Given the description of an element on the screen output the (x, y) to click on. 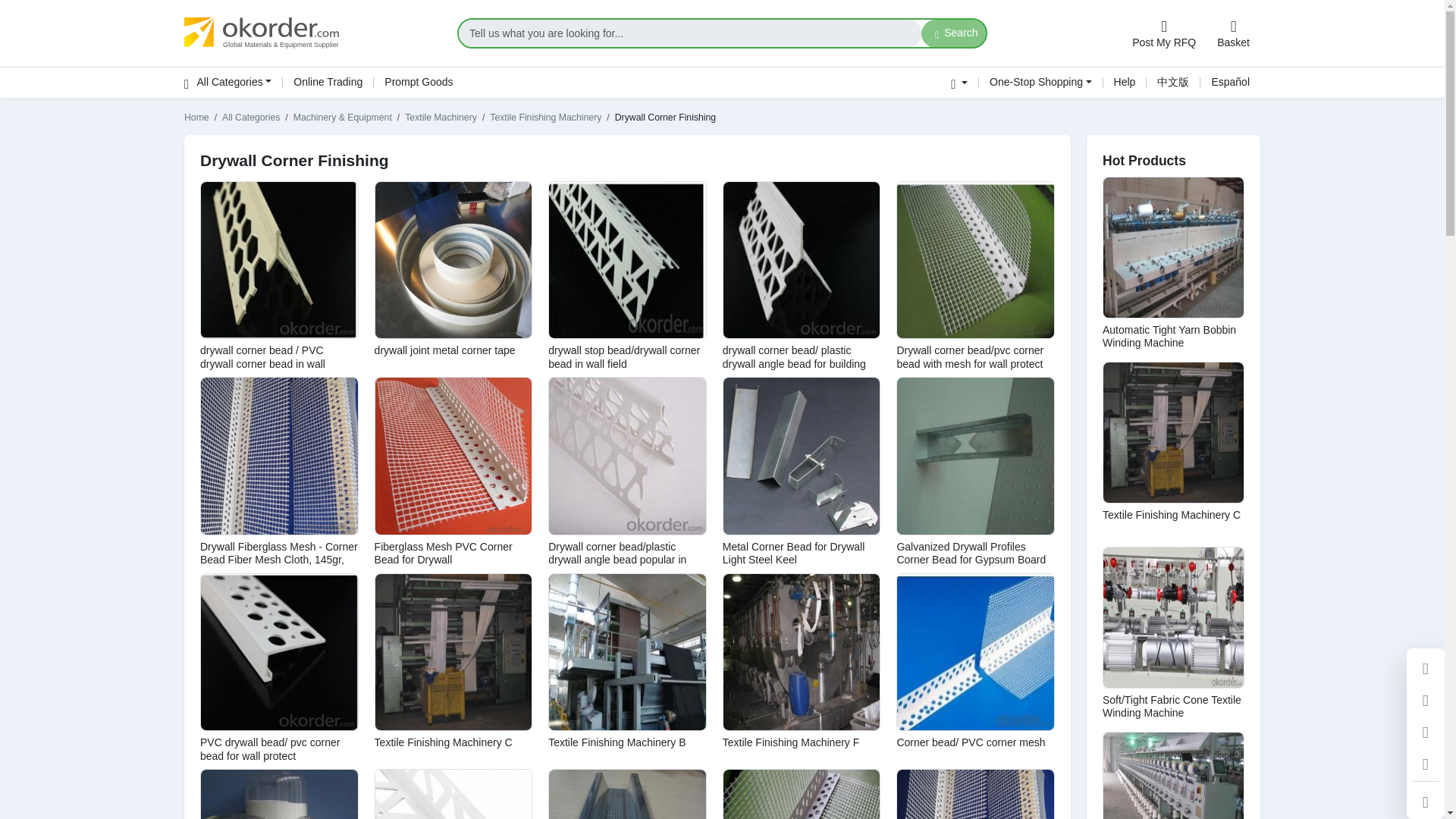
OKorder Metal Corner Bead for Drywall Light Steel Keel (801, 455)
Metal Corner Bead for Drywall Light Steel Keel (793, 553)
Search (954, 33)
OKorder Fiberglass Mesh PVC Corner Bead for Drywall (453, 455)
Basket (1233, 33)
Fiberglass Mesh PVC Corner Bead for Drywall (443, 553)
Post My RFQ (1164, 33)
OKorder drywall joint metal corner tape (453, 260)
All Categories (233, 82)
drywall joint metal corner tape (444, 349)
www.okorder.com (312, 33)
